Given the description of an element on the screen output the (x, y) to click on. 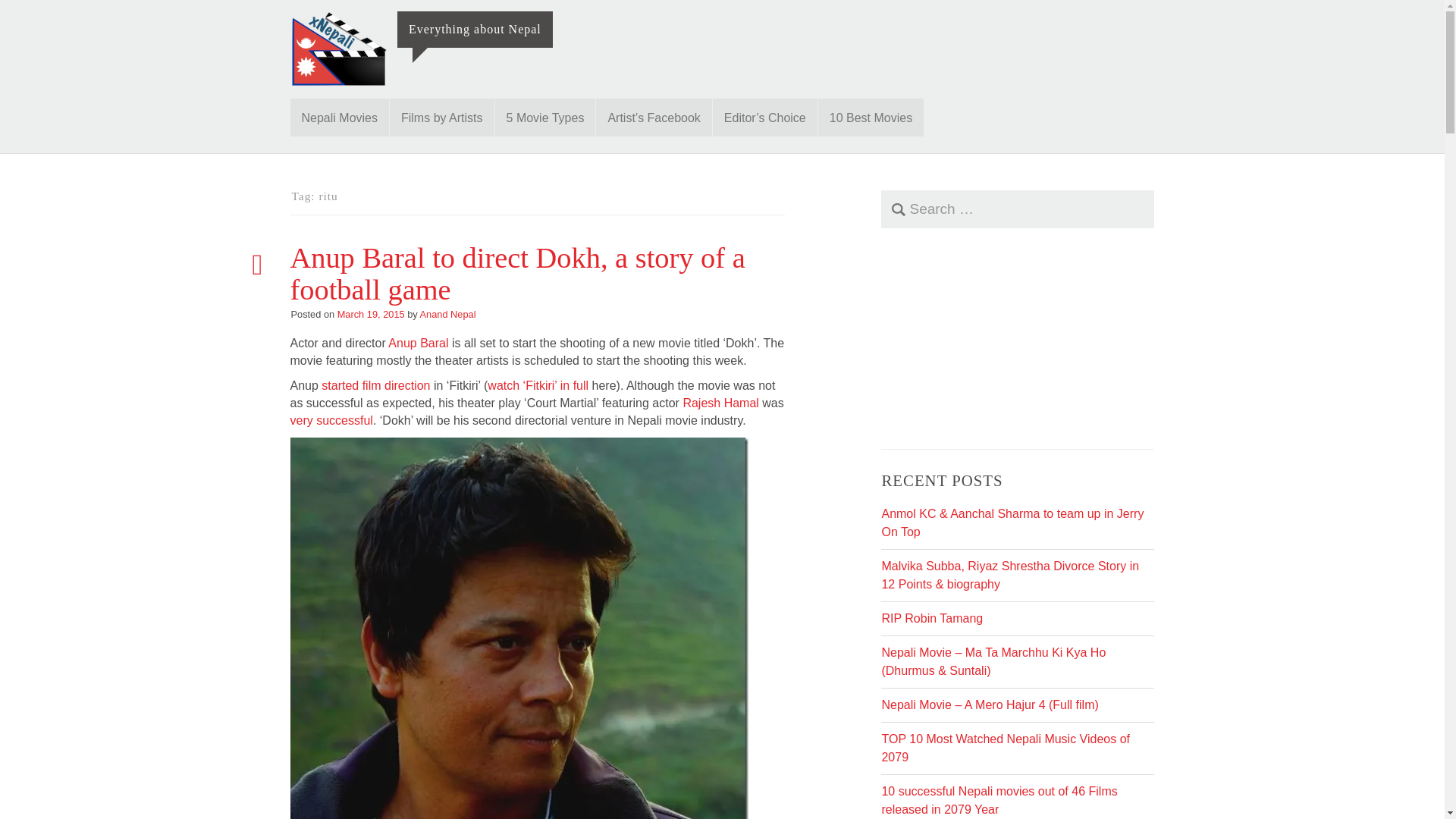
March 19, 2015 (370, 314)
Rajesh Hamal (720, 402)
Editor's Choice (764, 117)
Anup Baral to direct Dokh, a story of a football game (516, 273)
10 Best Movies (870, 117)
Films by Artists (442, 117)
Artist's Facebook (653, 117)
Rajesh Hamal (720, 402)
Nepali Movies (338, 117)
Nepali Movies (338, 117)
5 Movie Types (545, 117)
Films by Artists (442, 117)
started film direction (375, 385)
very successful (330, 420)
